Given the description of an element on the screen output the (x, y) to click on. 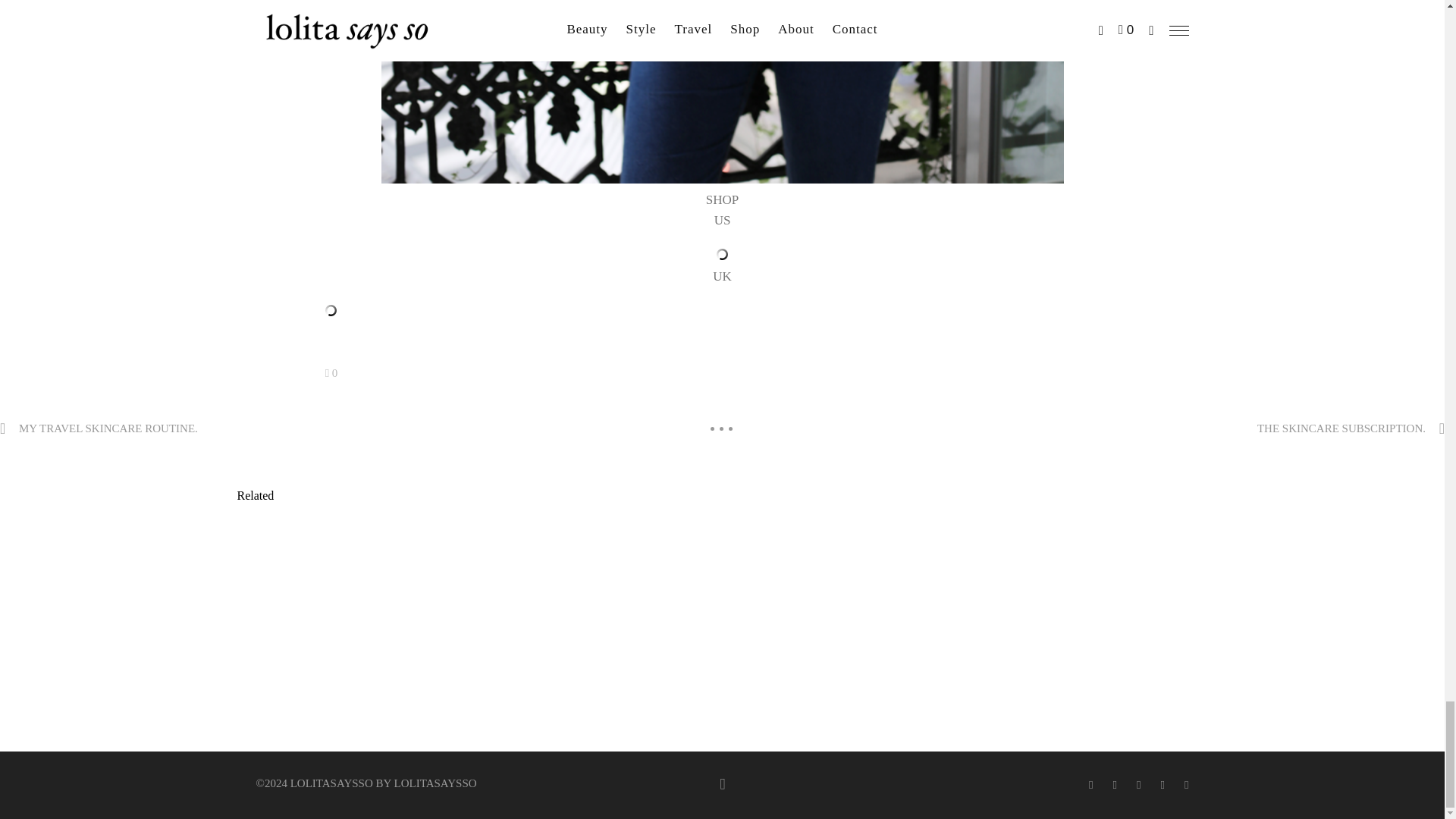
Like (330, 372)
0 (330, 372)
THE SKINCARE SUBSCRIPTION. (1341, 428)
MY TRAVEL SKINCARE ROUTINE. (108, 428)
